Given the description of an element on the screen output the (x, y) to click on. 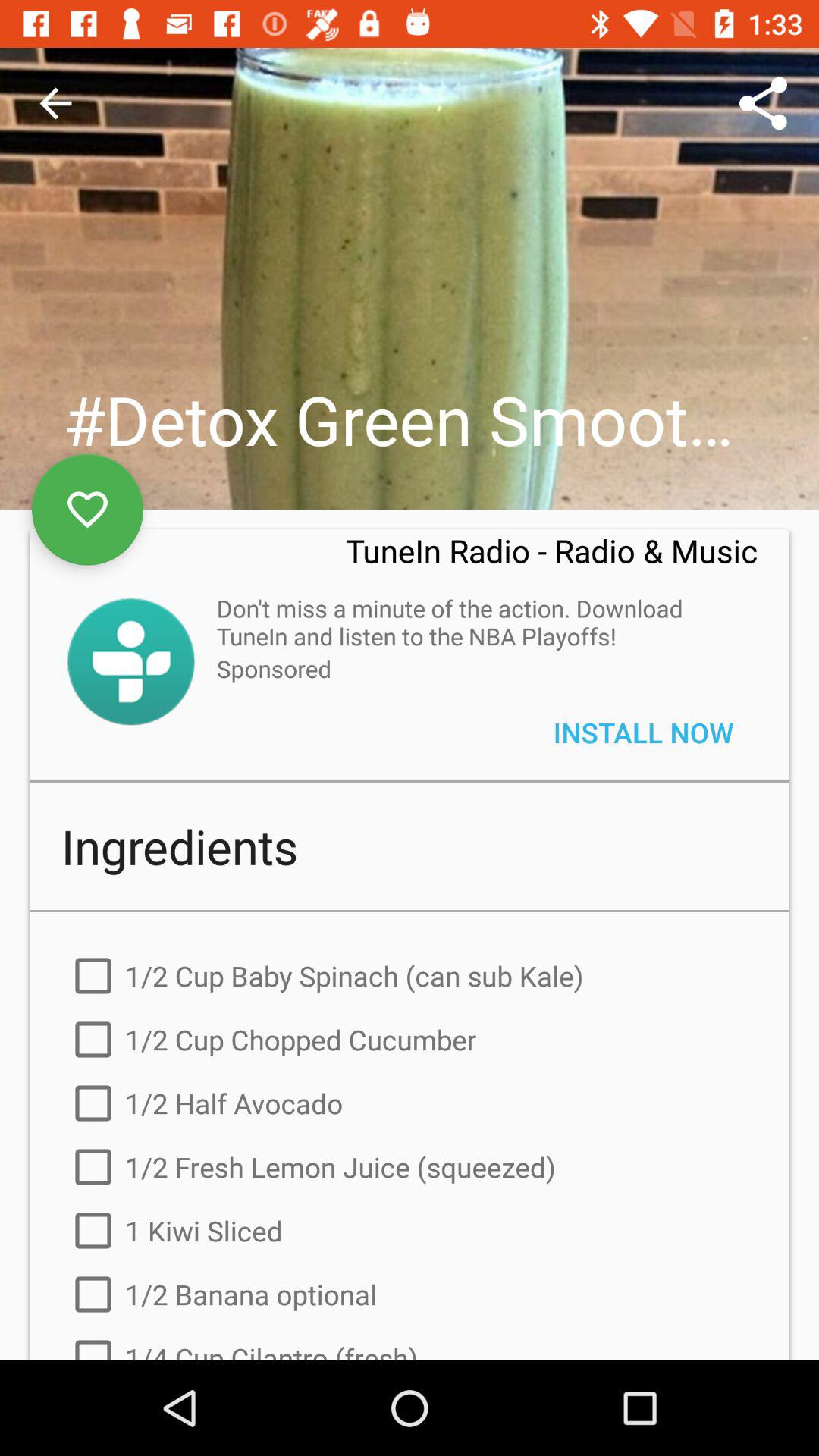
choose the icon above the 1 2 banana icon (409, 1230)
